Given the description of an element on the screen output the (x, y) to click on. 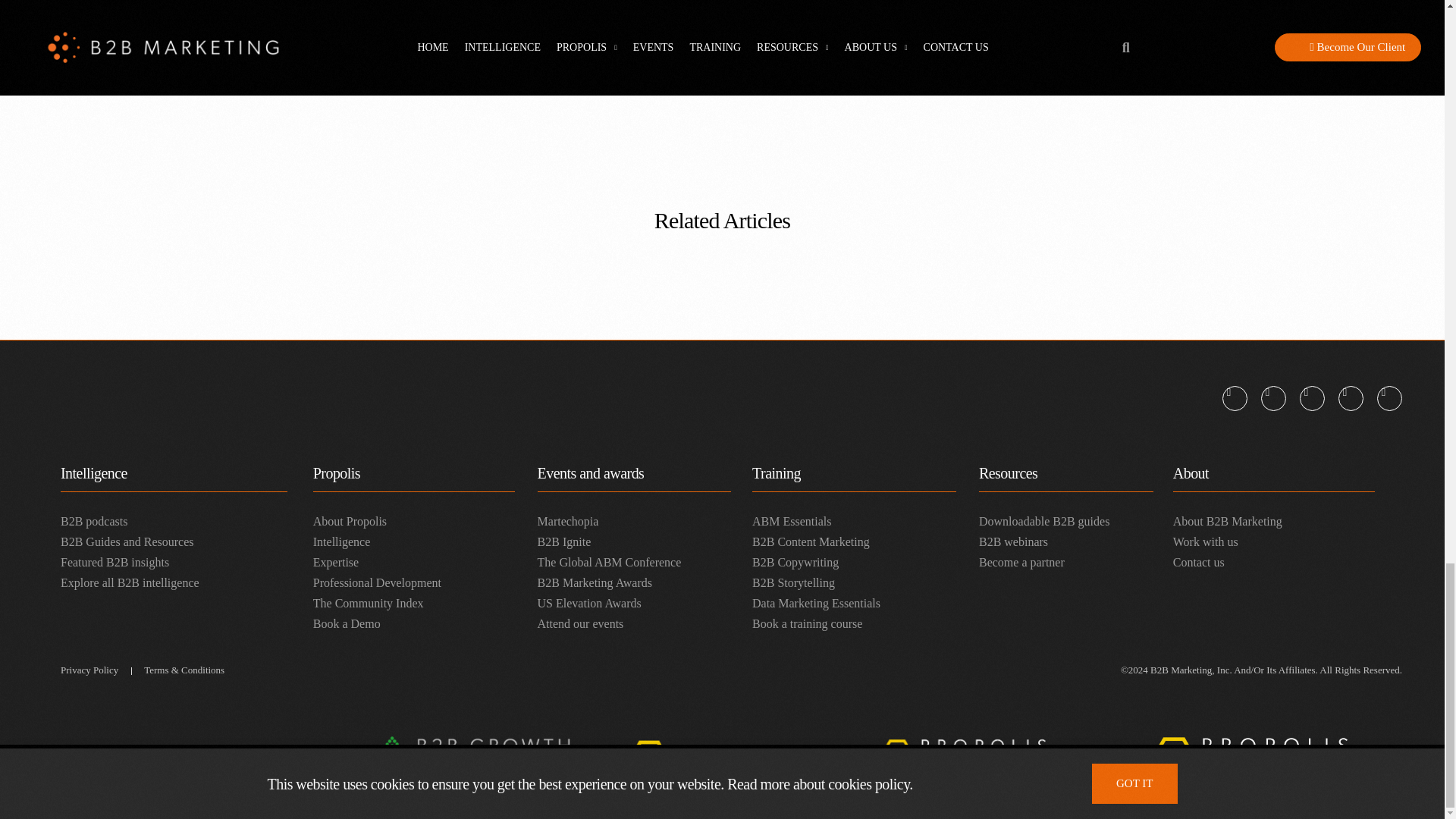
The B2B Marketing UK Agencies Benchmarking Report 2019 (532, 25)
